Given the description of an element on the screen output the (x, y) to click on. 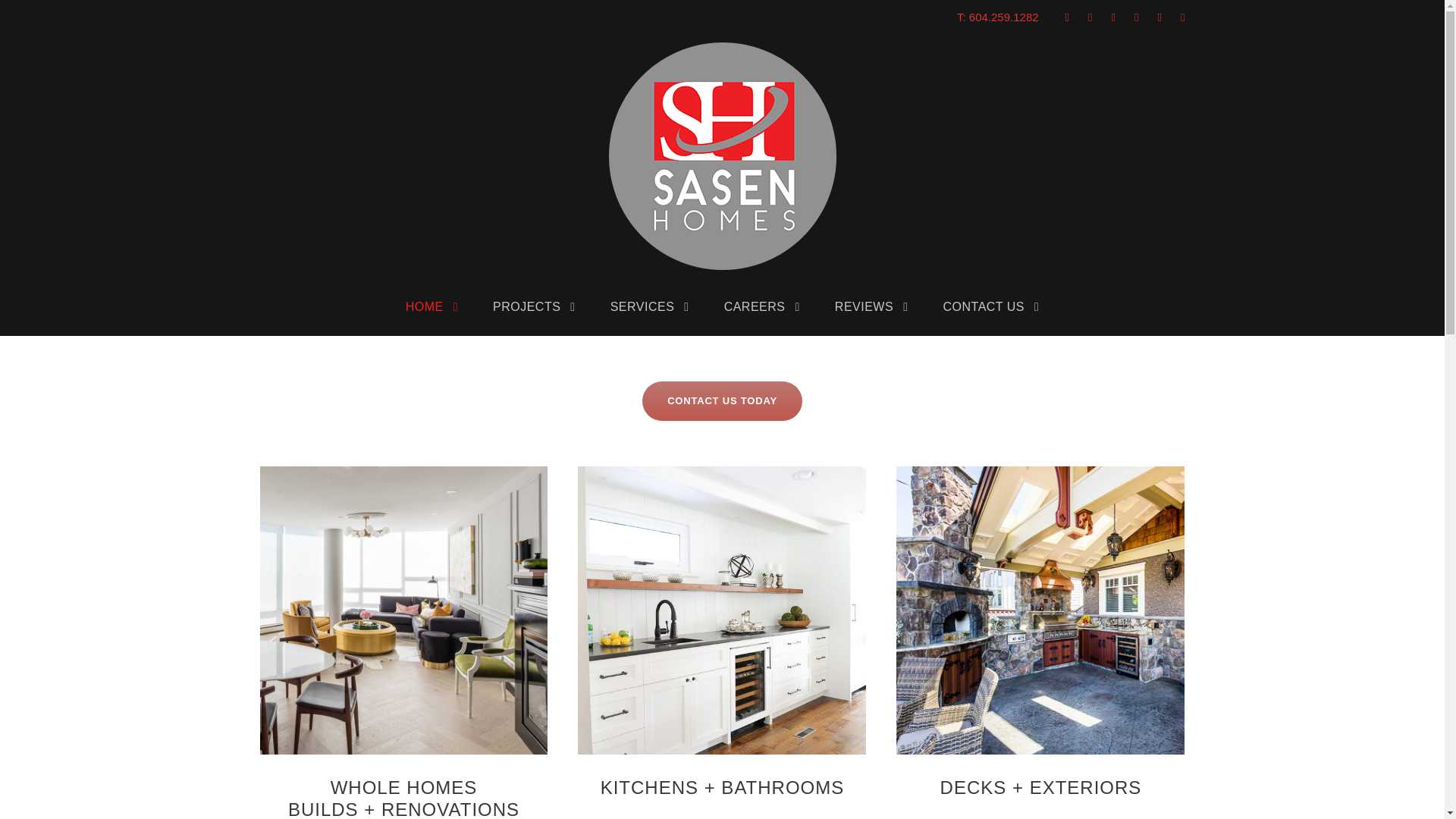
DECKS (1040, 610)
KitchenFeature (722, 610)
SasenHomes2021Logo (721, 156)
WHOLEHOME (403, 610)
